Given the description of an element on the screen output the (x, y) to click on. 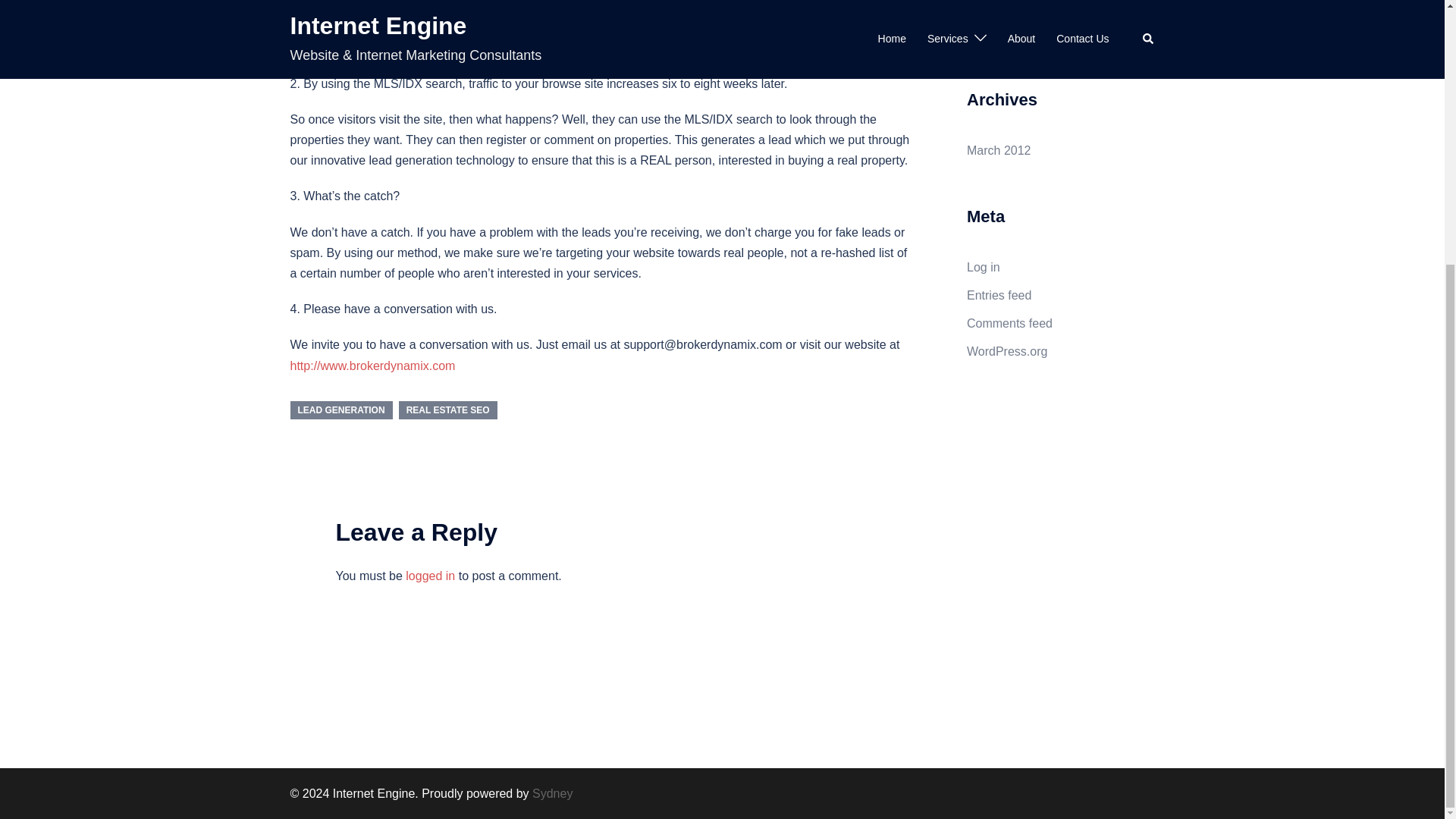
Log in (983, 267)
REAL ESTATE SEO (447, 410)
logged in (430, 575)
LEAD GENERATION (340, 410)
WordPress.org (1006, 350)
Sydney (552, 793)
Comments feed (1009, 323)
Entries feed (998, 295)
March 2012 (998, 150)
